Given the description of an element on the screen output the (x, y) to click on. 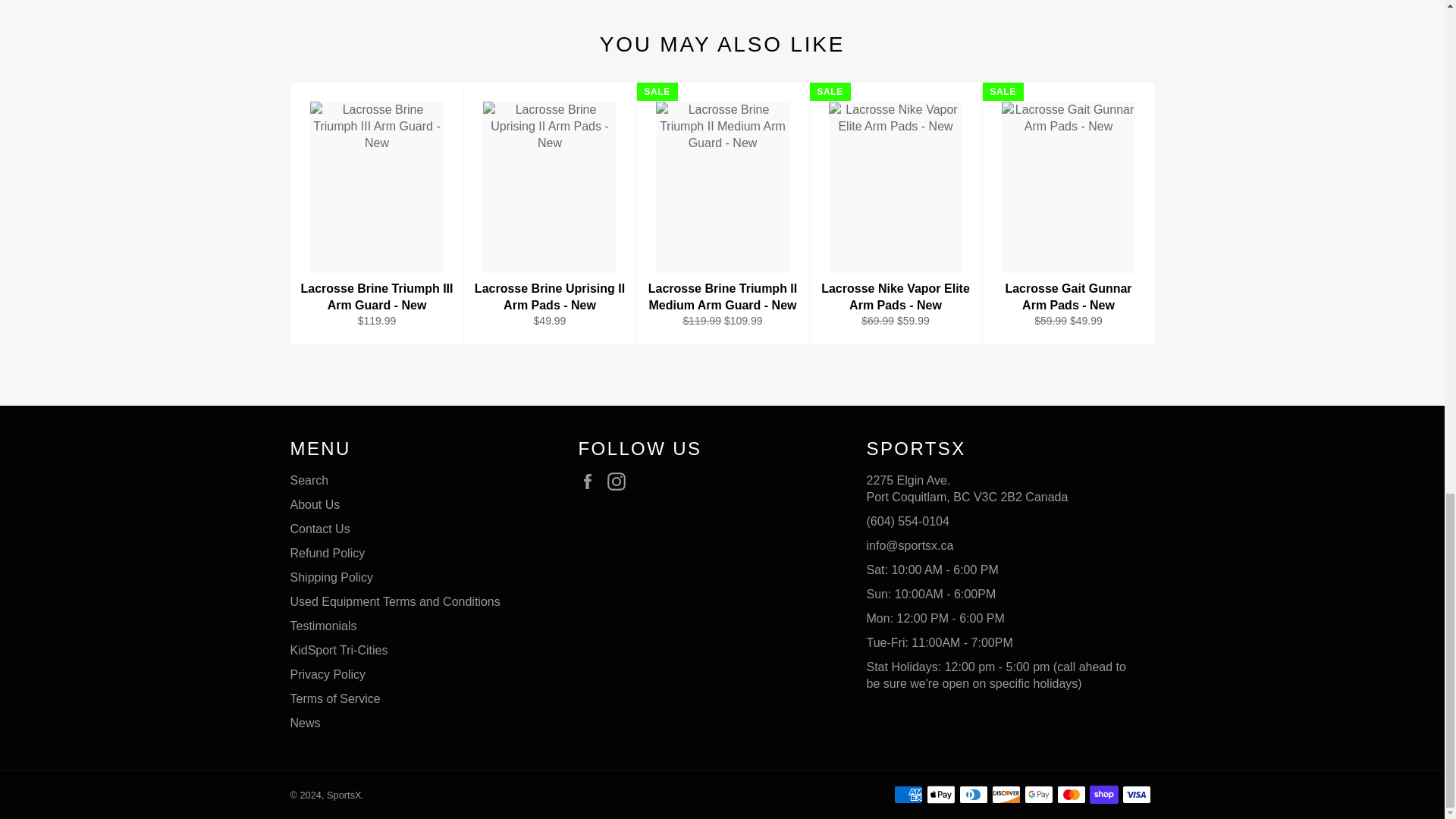
SportsX on Instagram (620, 480)
SportsX on Facebook (591, 480)
Contact Us (909, 544)
